Given the description of an element on the screen output the (x, y) to click on. 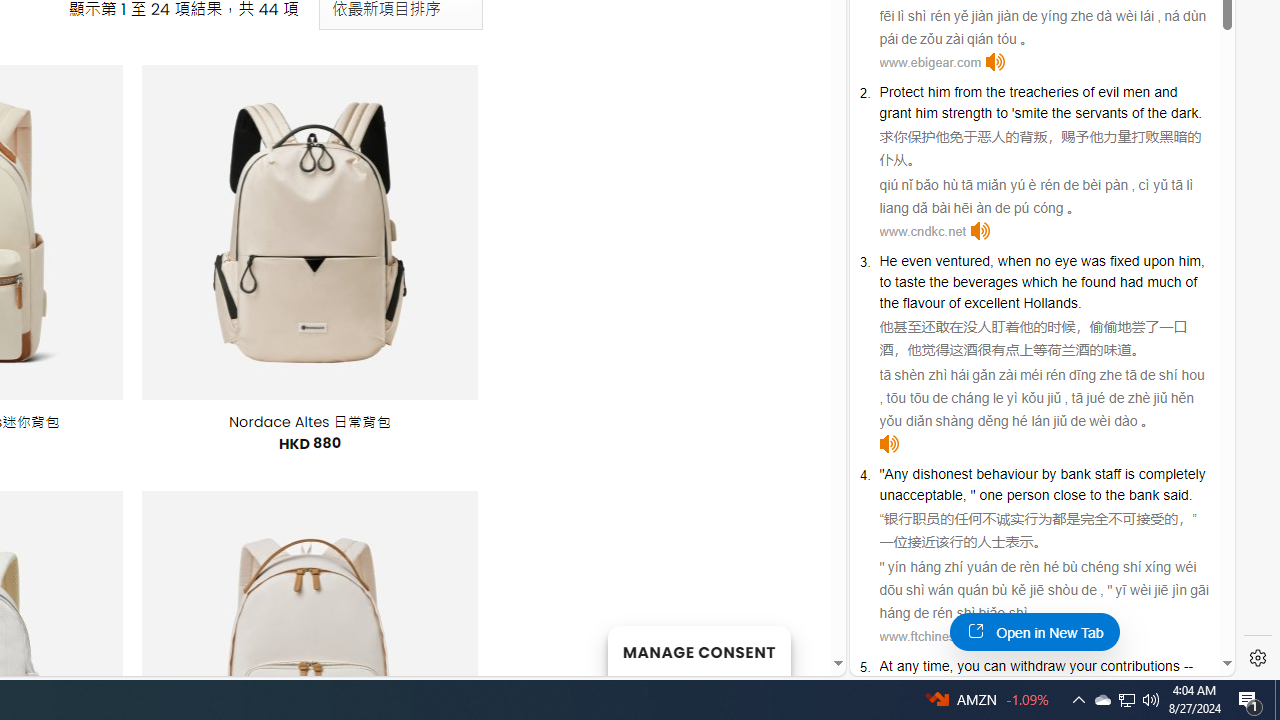
even (916, 260)
upon (1159, 260)
strength (966, 112)
person (1027, 494)
him (1188, 260)
Click to listen (1004, 636)
fixed (1124, 260)
